Given the description of an element on the screen output the (x, y) to click on. 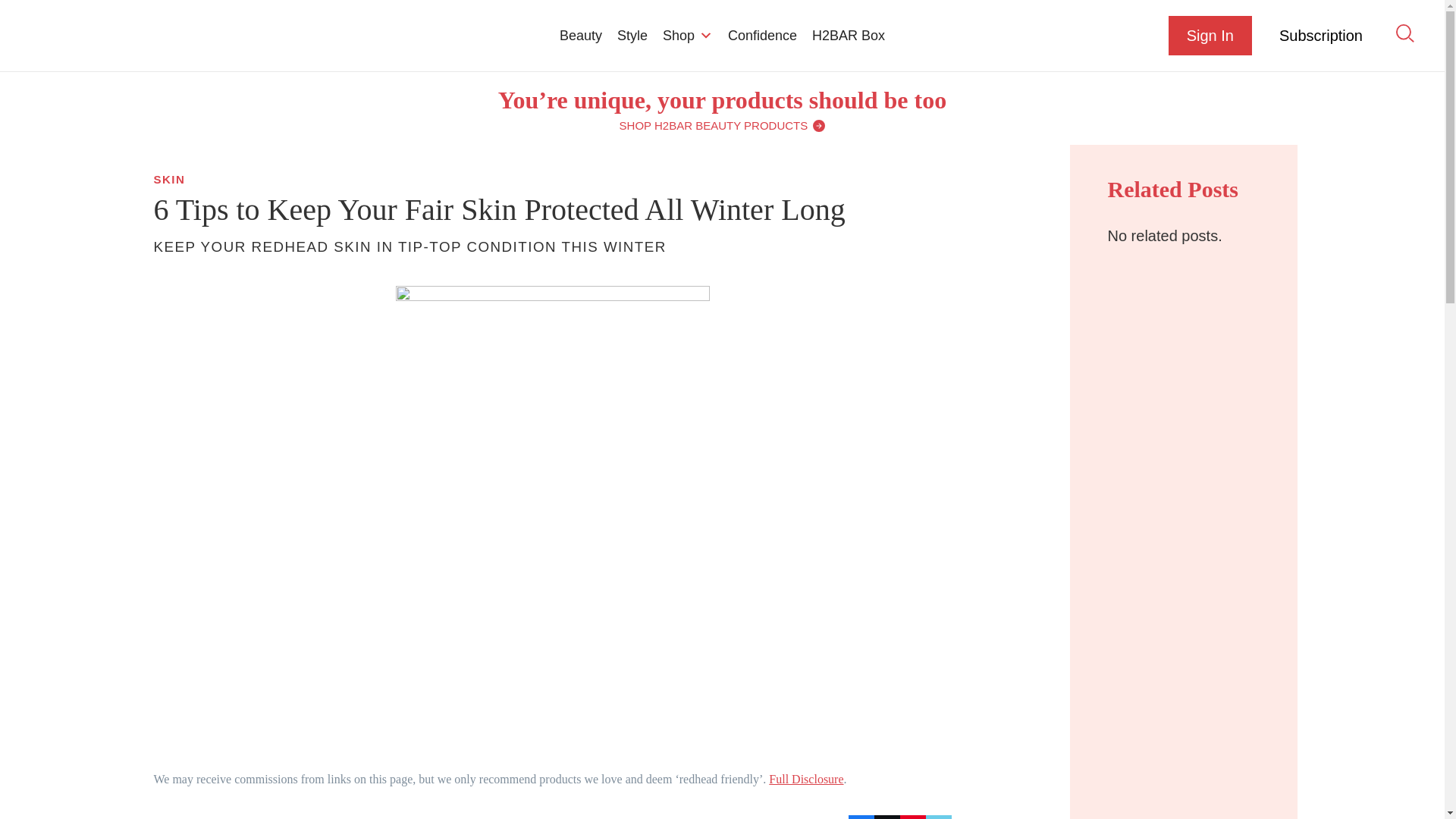
Full Disclosure (805, 779)
Sign In (1210, 35)
Beauty (580, 35)
Shop (687, 35)
Style (632, 35)
Skin archive (168, 178)
H2BAR Box (848, 35)
Sign In (1210, 35)
Confidence (762, 35)
